Given the description of an element on the screen output the (x, y) to click on. 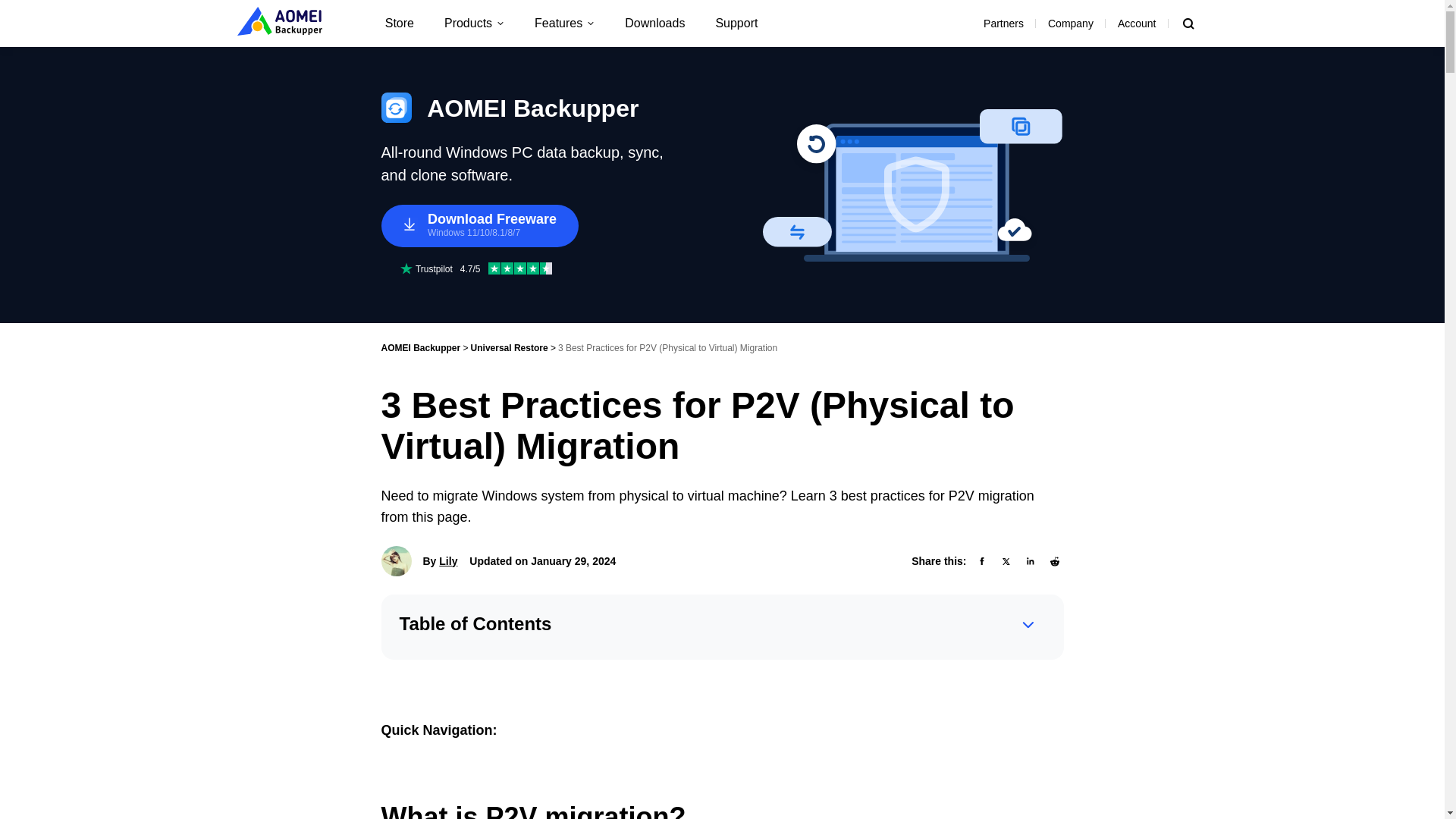
Features (564, 23)
Support (736, 23)
Store (399, 23)
AOMEI Backupper (420, 347)
Products (474, 23)
Search (1186, 23)
Company (1070, 23)
Downloads (655, 23)
Universal Restore (509, 347)
Partners (1003, 23)
Account (1137, 23)
